Given the description of an element on the screen output the (x, y) to click on. 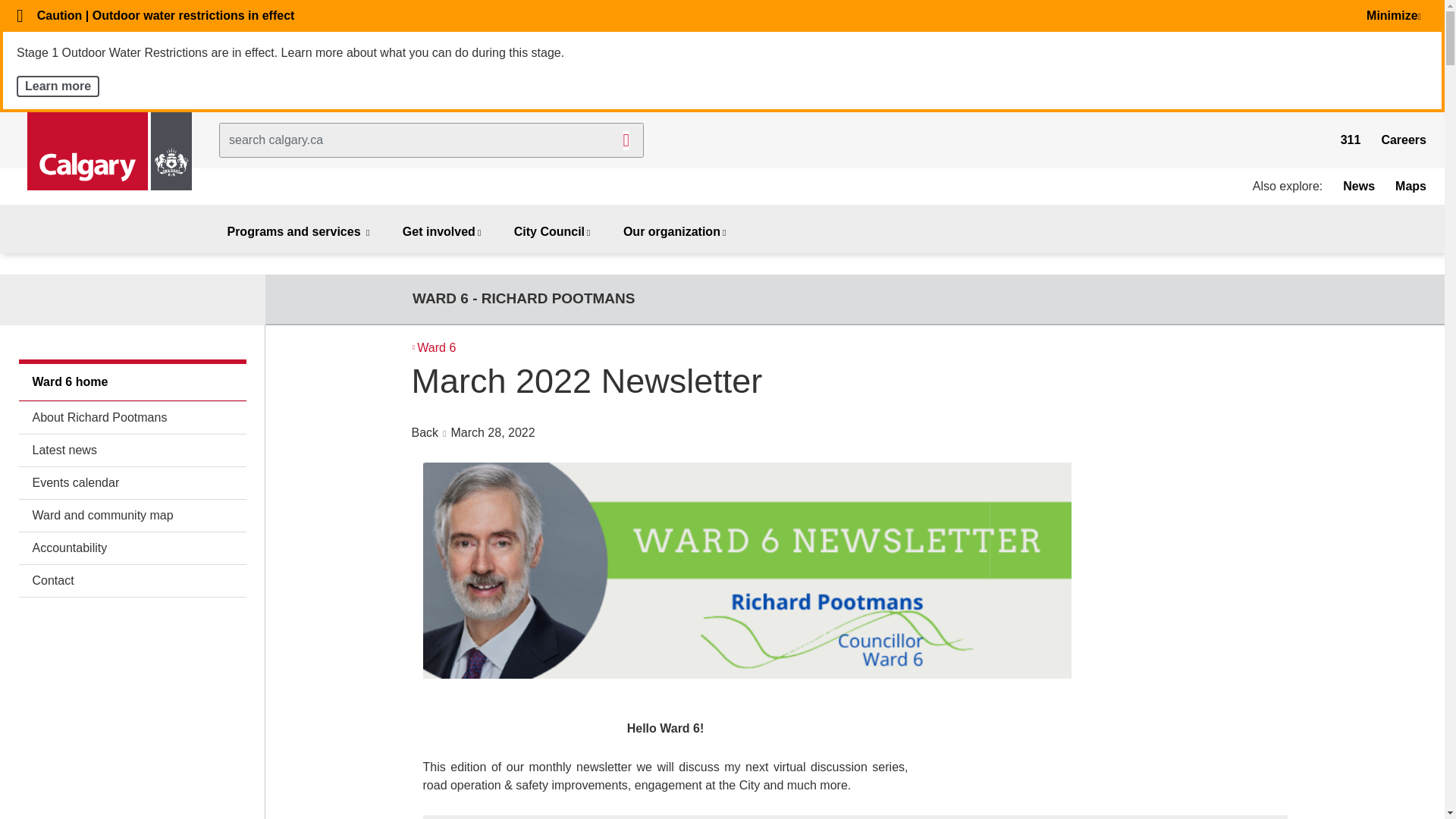
Careers (1403, 139)
311 (1350, 139)
Learn more (57, 86)
Maps (1410, 185)
Programs and services (298, 233)
Minimize (1397, 15)
Submit search (626, 139)
City Council (553, 233)
News (1358, 185)
Get involved (442, 233)
